Given the description of an element on the screen output the (x, y) to click on. 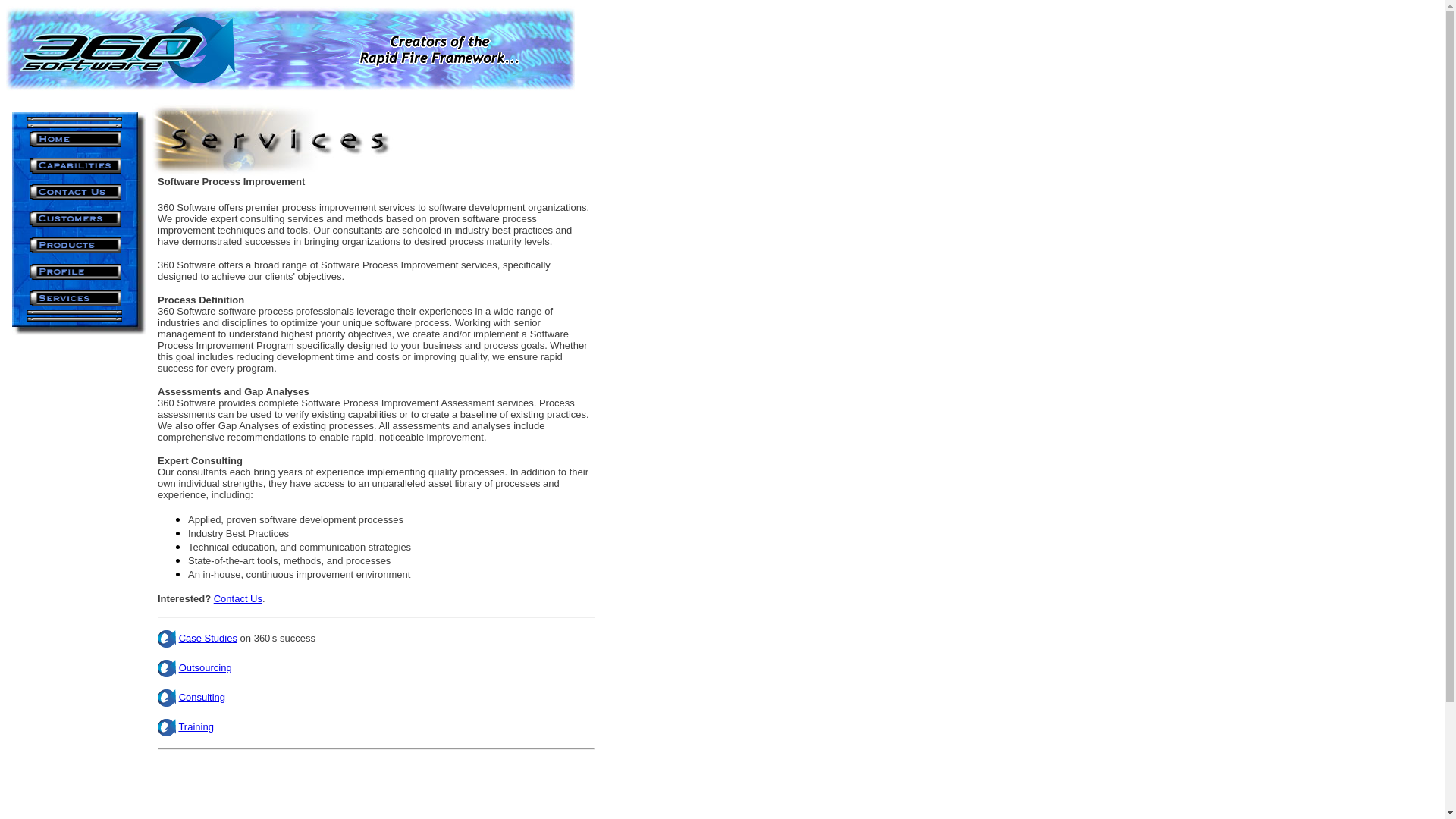
Case Studies Element type: text (207, 637)
Contact Us Element type: text (237, 598)
Outsourcing Element type: text (205, 667)
Consulting Element type: text (201, 696)
Training Element type: text (195, 726)
